Given the description of an element on the screen output the (x, y) to click on. 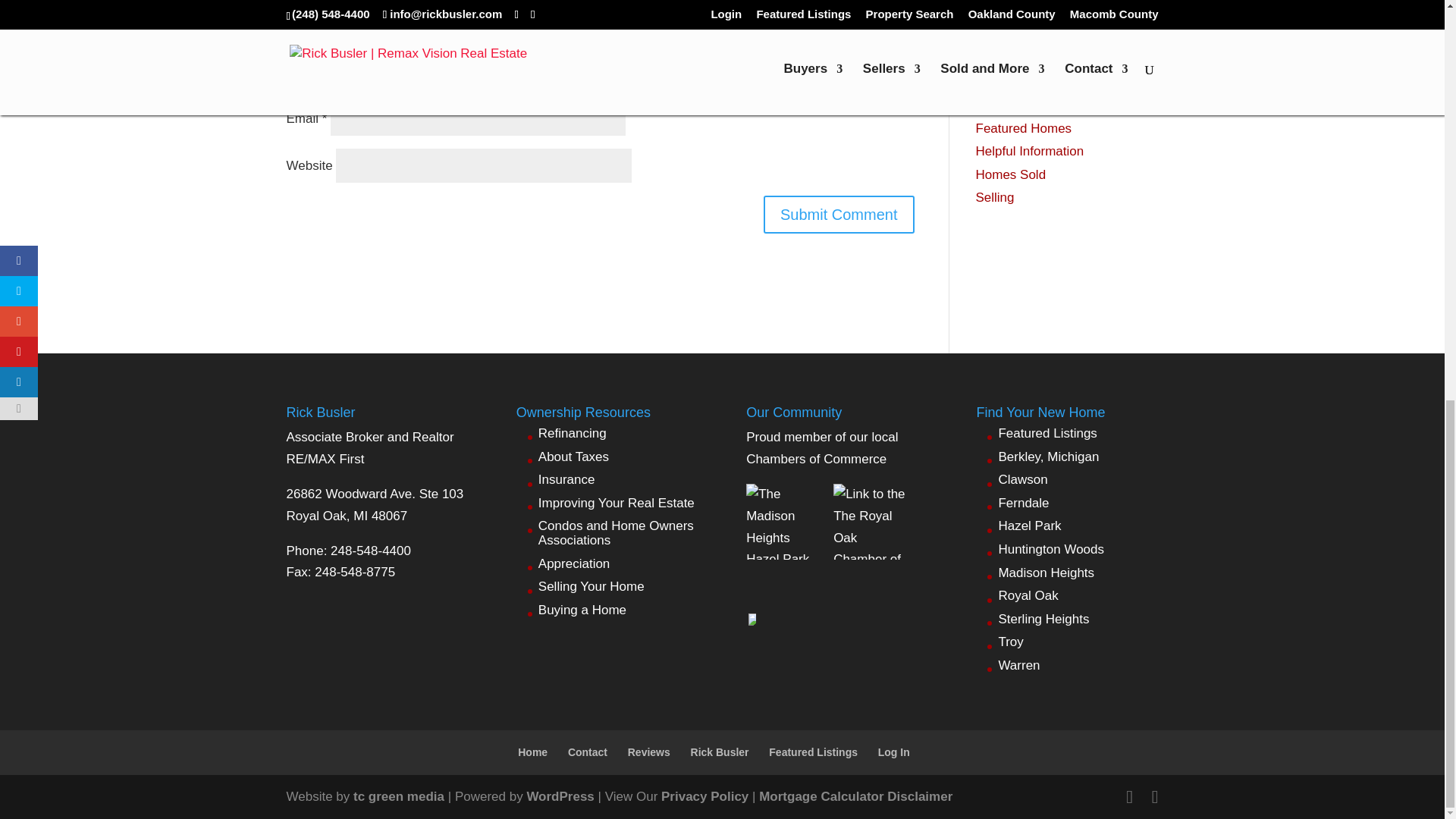
Submit Comment (838, 214)
Submit Comment (838, 214)
